Given the description of an element on the screen output the (x, y) to click on. 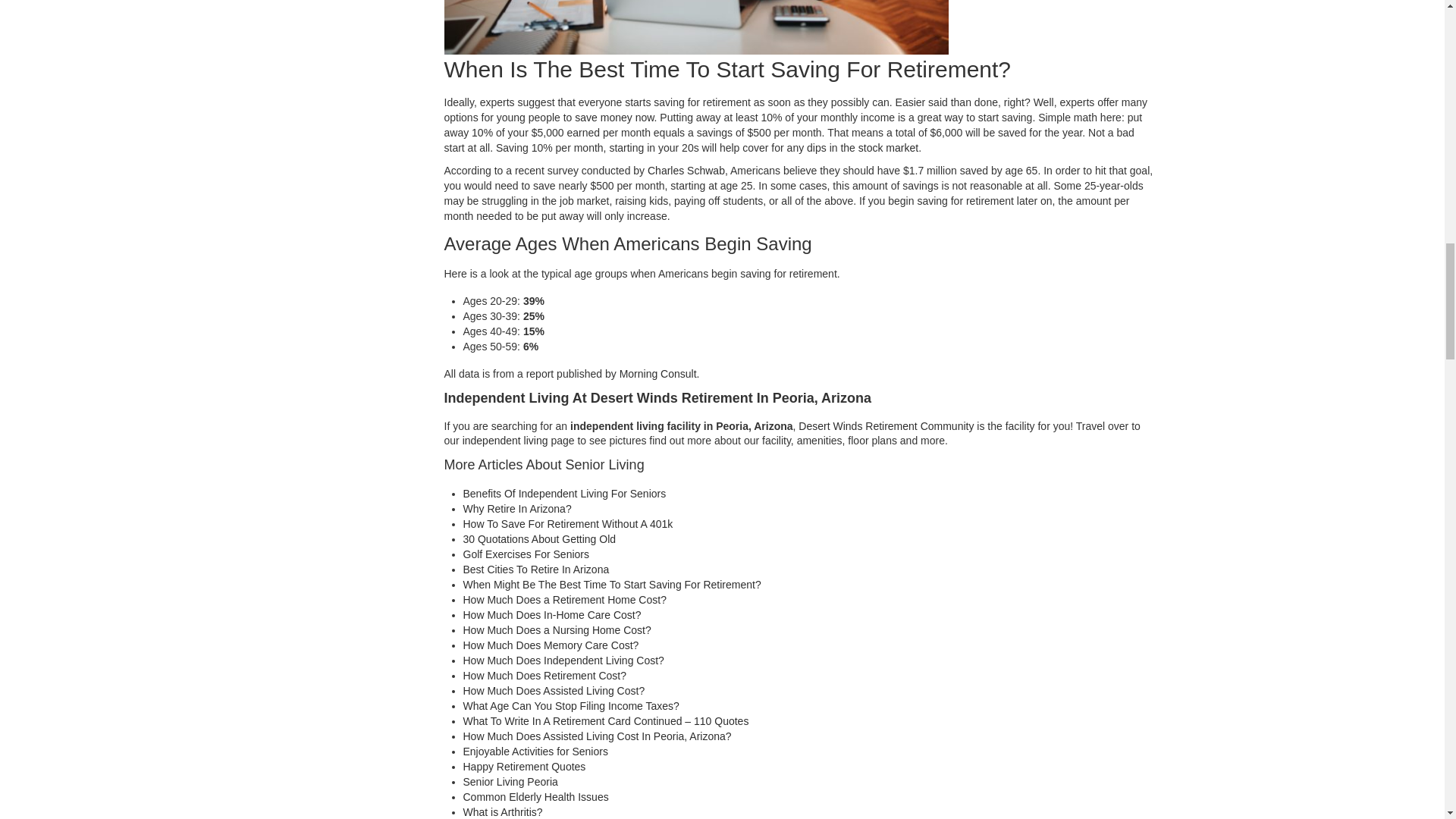
Golf Exercises For Seniors (526, 553)
When Might Be The Best Time To Start Saving For Retirement? (611, 584)
Desert Winds Retirement Community (885, 426)
How Much Does a Retirement Home Cost? (564, 599)
How Much Does Retirement Cost? (544, 675)
30 Quotations About Getting Old (539, 539)
Why Retire In Arizona? (516, 508)
How Much Does a Nursing Home Cost? (556, 630)
Charles Schwab, (687, 170)
stock market (888, 147)
